Given the description of an element on the screen output the (x, y) to click on. 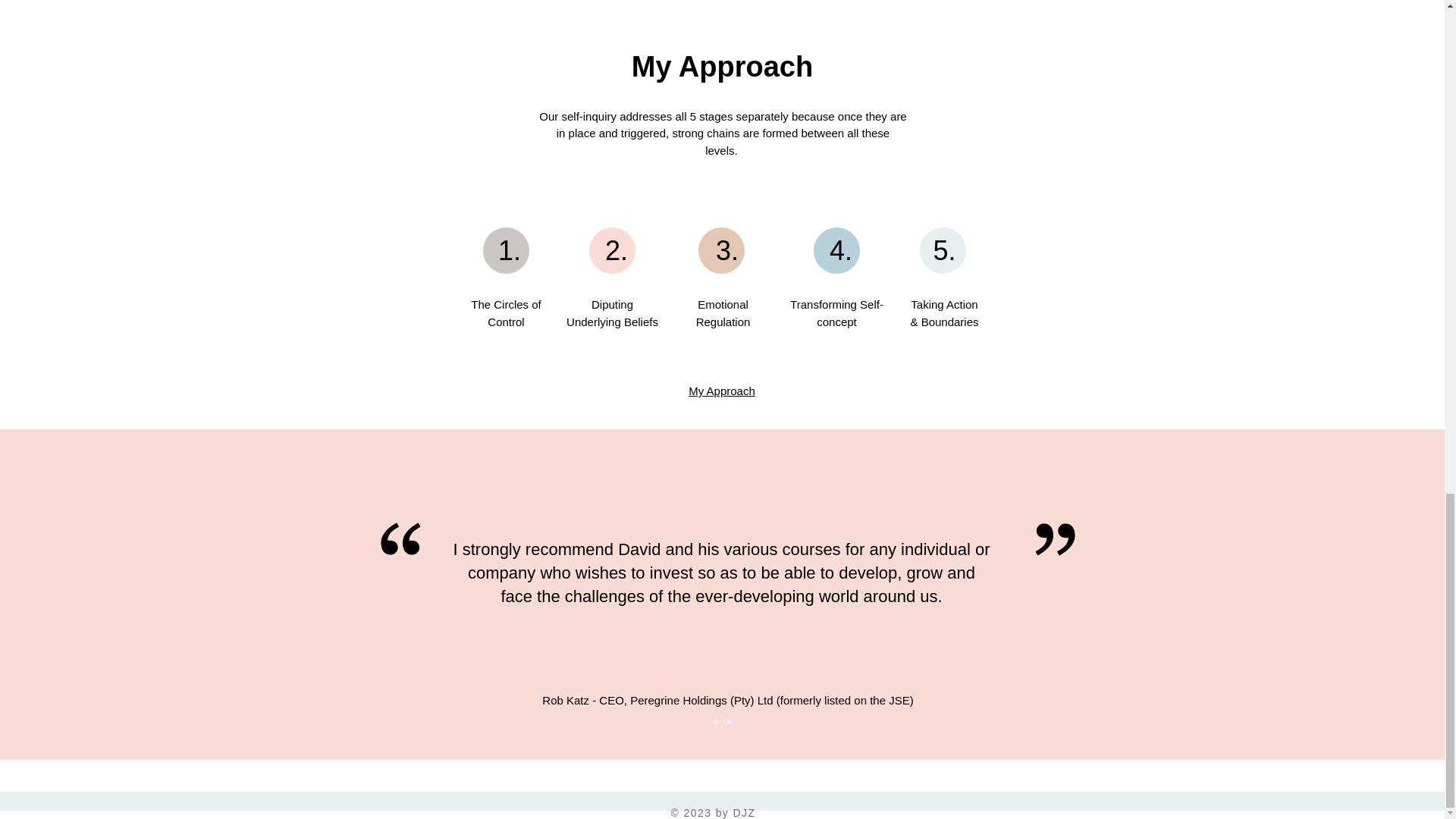
My Approach (721, 390)
